Given the description of an element on the screen output the (x, y) to click on. 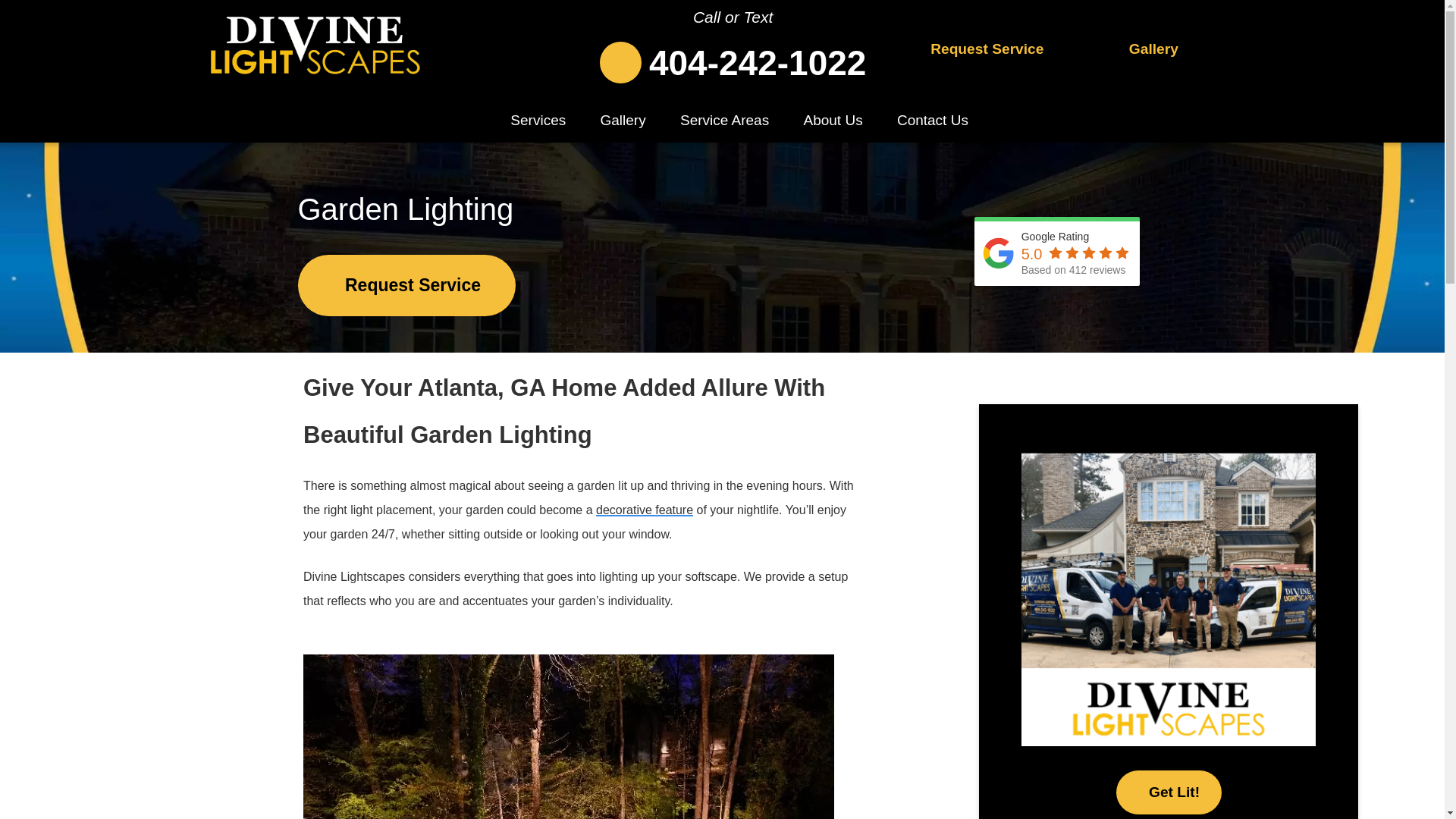
Gallery (1142, 49)
Contact Today (977, 49)
Request Service (977, 49)
Service Areas (724, 116)
About Us (832, 116)
Our Services (1142, 49)
Services (537, 116)
Garden Lighting At Night (568, 736)
Contact Us (933, 116)
Gallery (623, 116)
